Given the description of an element on the screen output the (x, y) to click on. 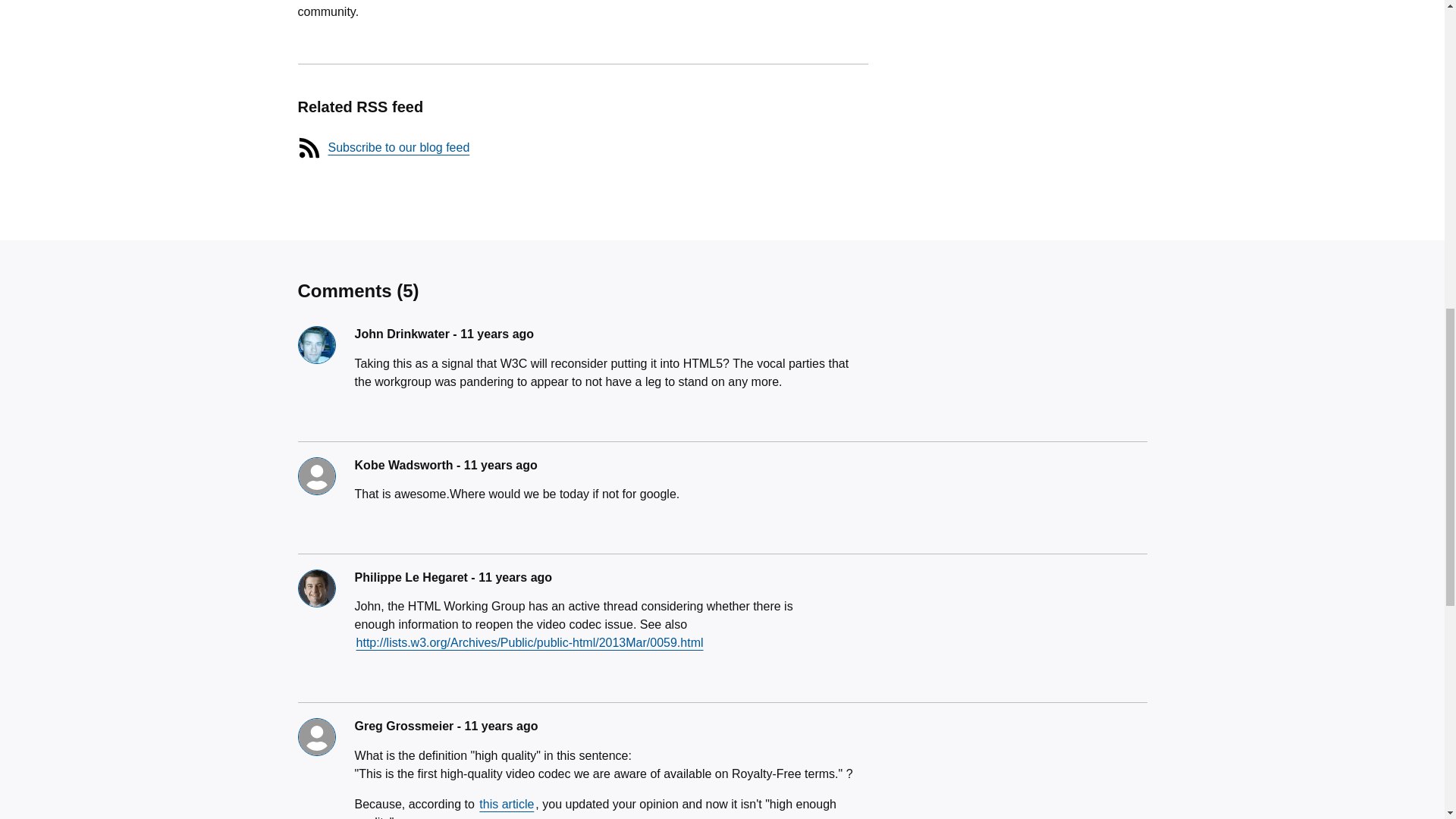
12 March 2013 at 00:21:56 UTC (497, 333)
15 March 2013 at 14:44:44 UTC (515, 576)
9 May 2013 at 22:25:21 UTC (500, 725)
12 March 2013 at 16:00:52 UTC (500, 464)
